Given the description of an element on the screen output the (x, y) to click on. 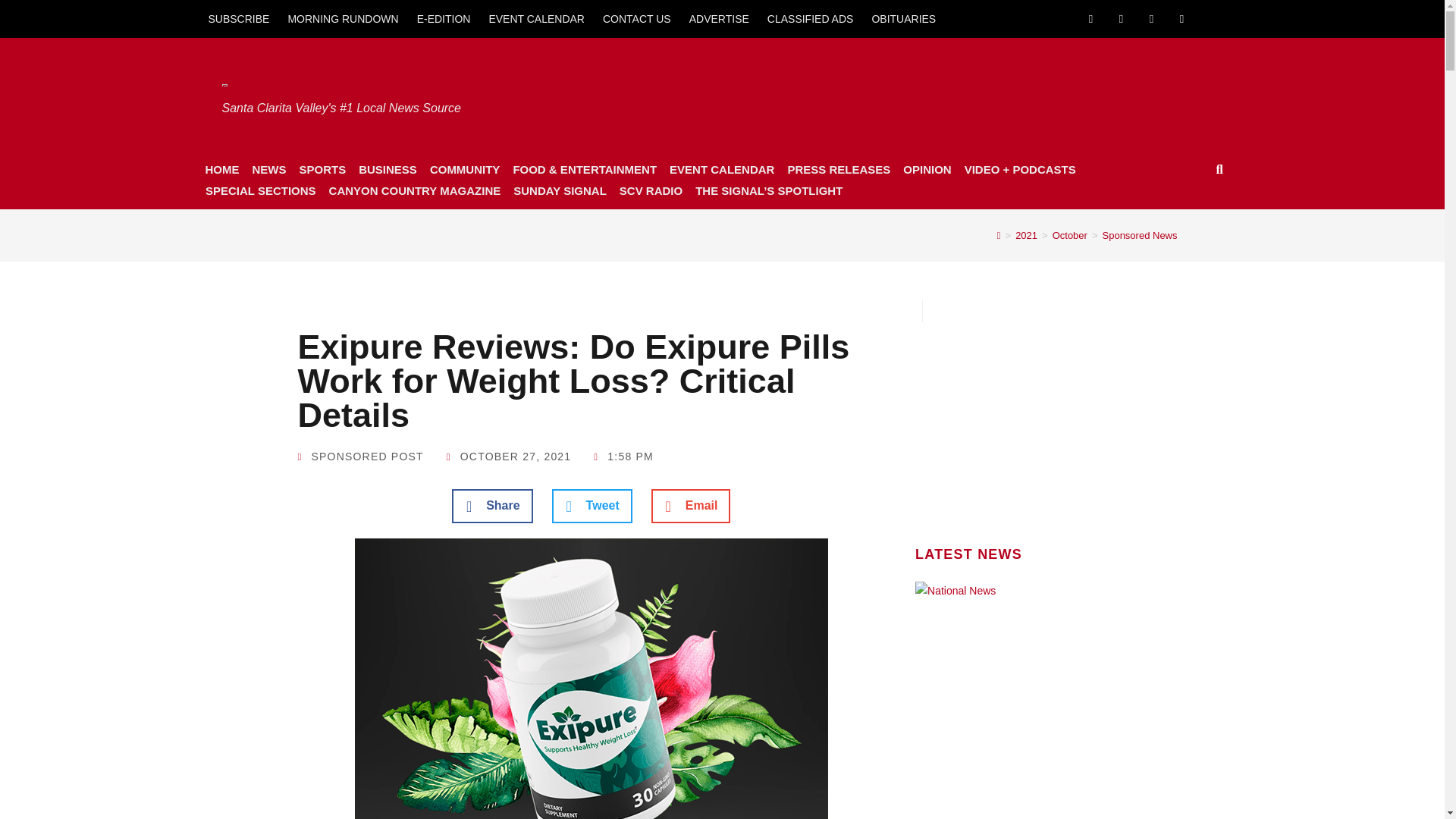
EVENT CALENDAR (536, 18)
ADVERTISE (718, 18)
CLASSIFIED ADS (810, 18)
OBITUARIES (902, 18)
NEWS (269, 169)
E-EDITION (443, 18)
SUBSCRIBE (238, 18)
SPORTS (322, 169)
CONTACT US (636, 18)
MORNING RUNDOWN (342, 18)
